Given the description of an element on the screen output the (x, y) to click on. 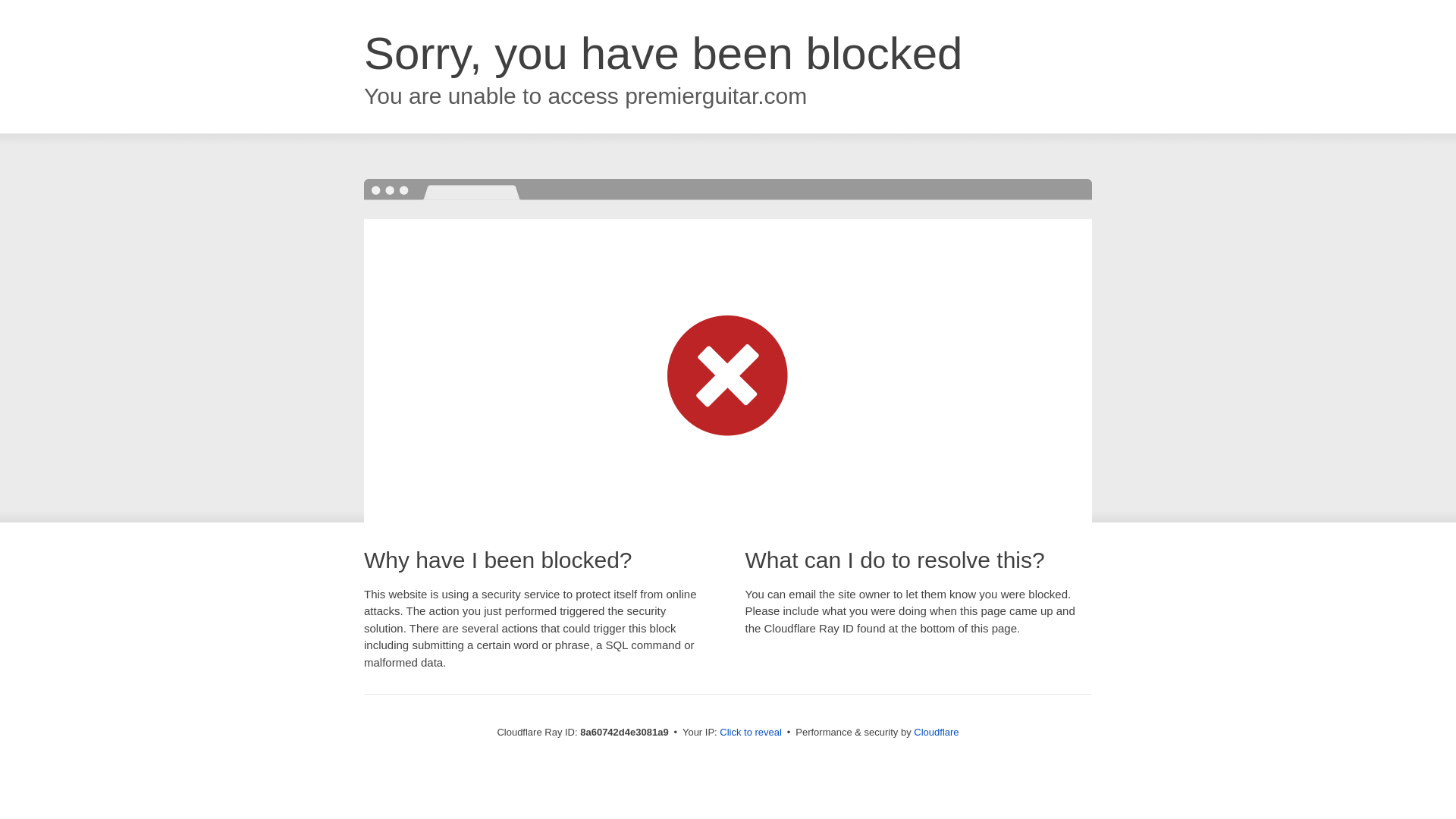
Click to reveal (750, 732)
Cloudflare (936, 731)
